Given the description of an element on the screen output the (x, y) to click on. 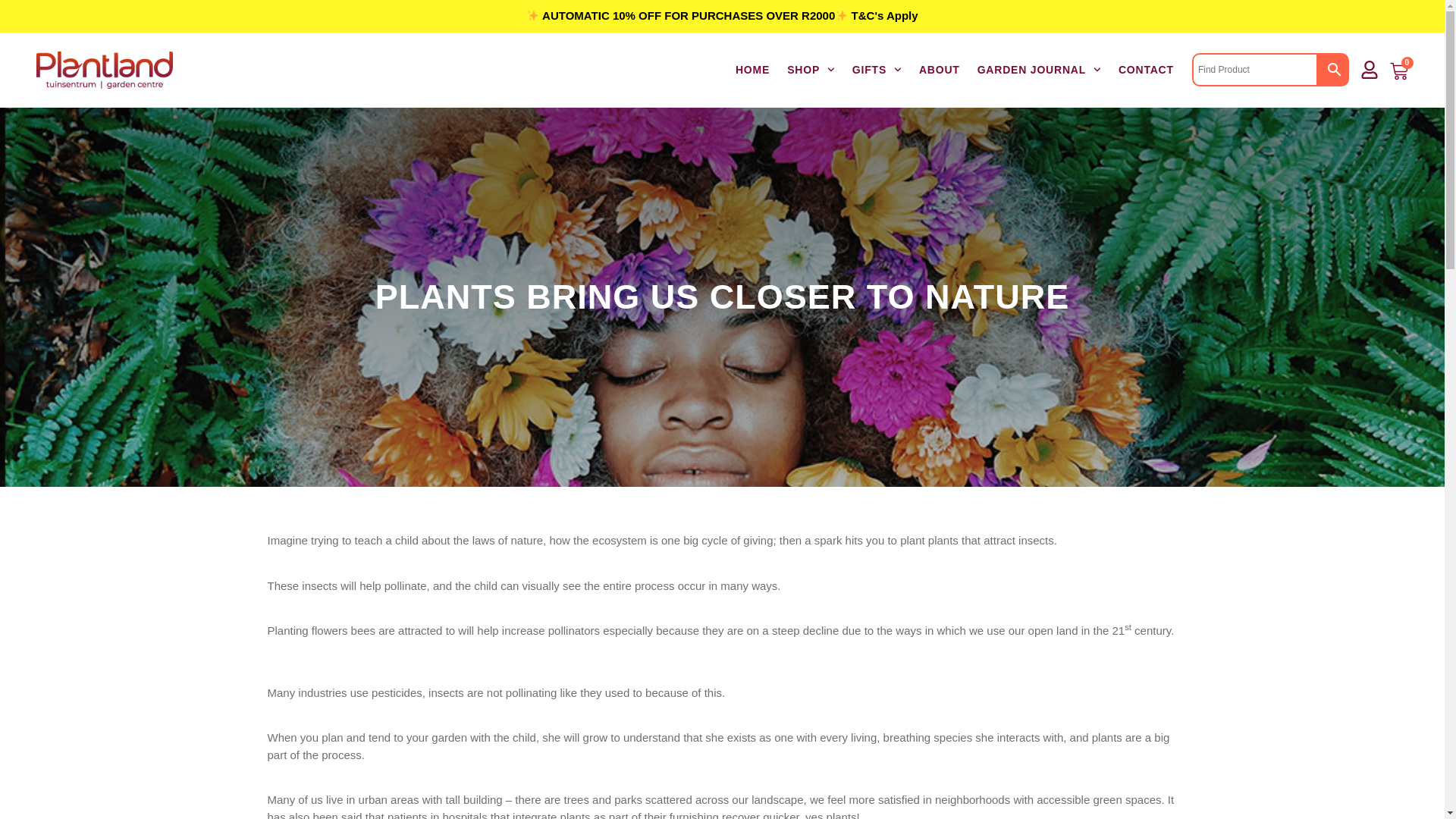
SHOP (810, 69)
GARDEN JOURNAL (1039, 69)
CONTACT (1146, 69)
GIFTS (876, 69)
ABOUT (939, 69)
HOME (752, 69)
